Given the description of an element on the screen output the (x, y) to click on. 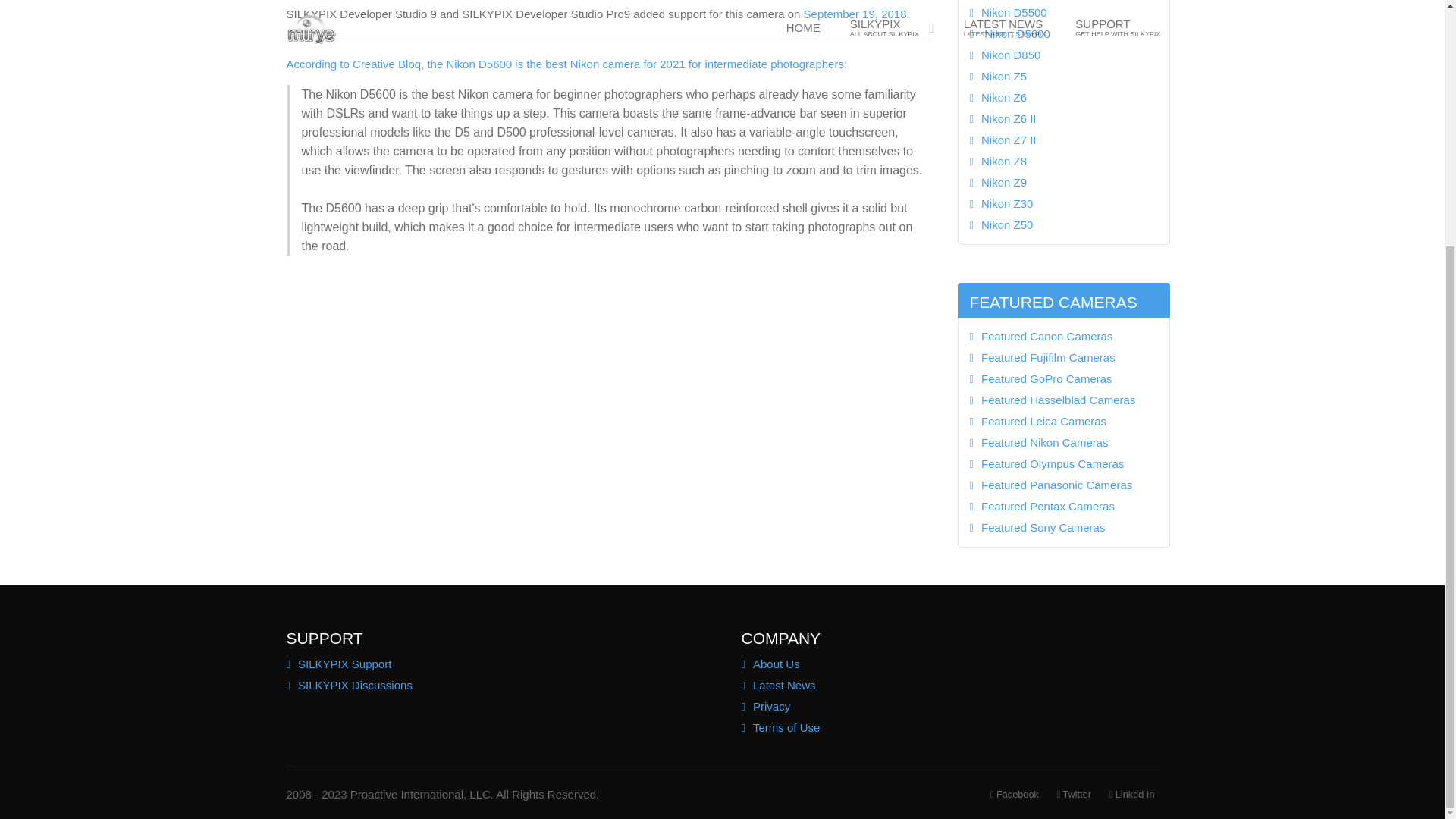
Featured Leica Cameras (1063, 421)
Featured Hasselblad Cameras (1063, 400)
Featured Olympus Cameras (1063, 463)
Featured Nikon Cameras (1063, 442)
Nikon Z5 (1063, 76)
Nikon Z9 (1063, 182)
Nikon Z6 II (1063, 118)
Featured Pentax Cameras (1063, 506)
Featured Fujifilm Cameras (1063, 357)
Nikon Z8 (1063, 160)
